Given the description of an element on the screen output the (x, y) to click on. 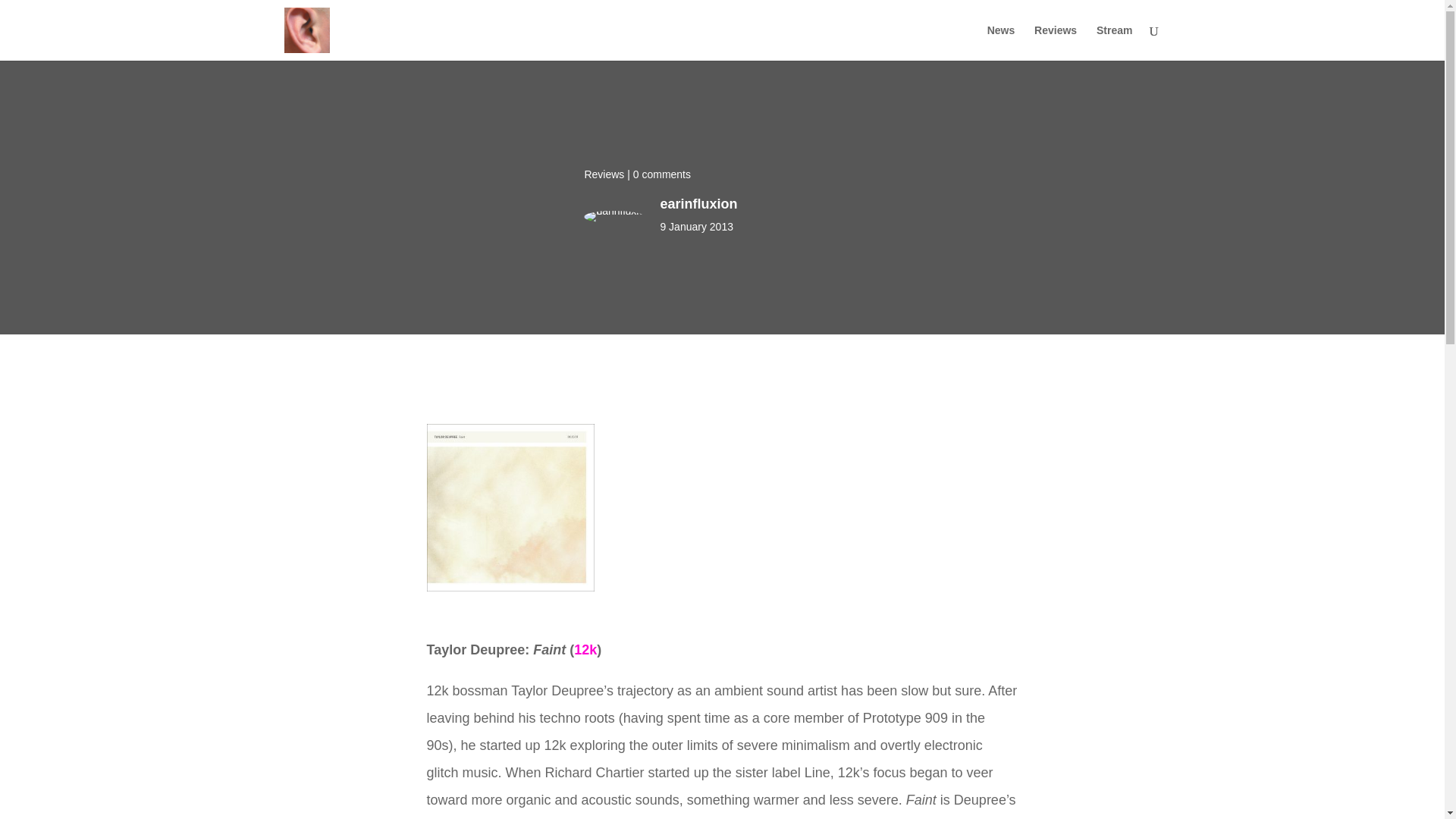
Stream (1114, 42)
Reviews (1055, 42)
News (1000, 42)
Reviews (603, 174)
0 comments (661, 174)
12k (584, 649)
